Given the description of an element on the screen output the (x, y) to click on. 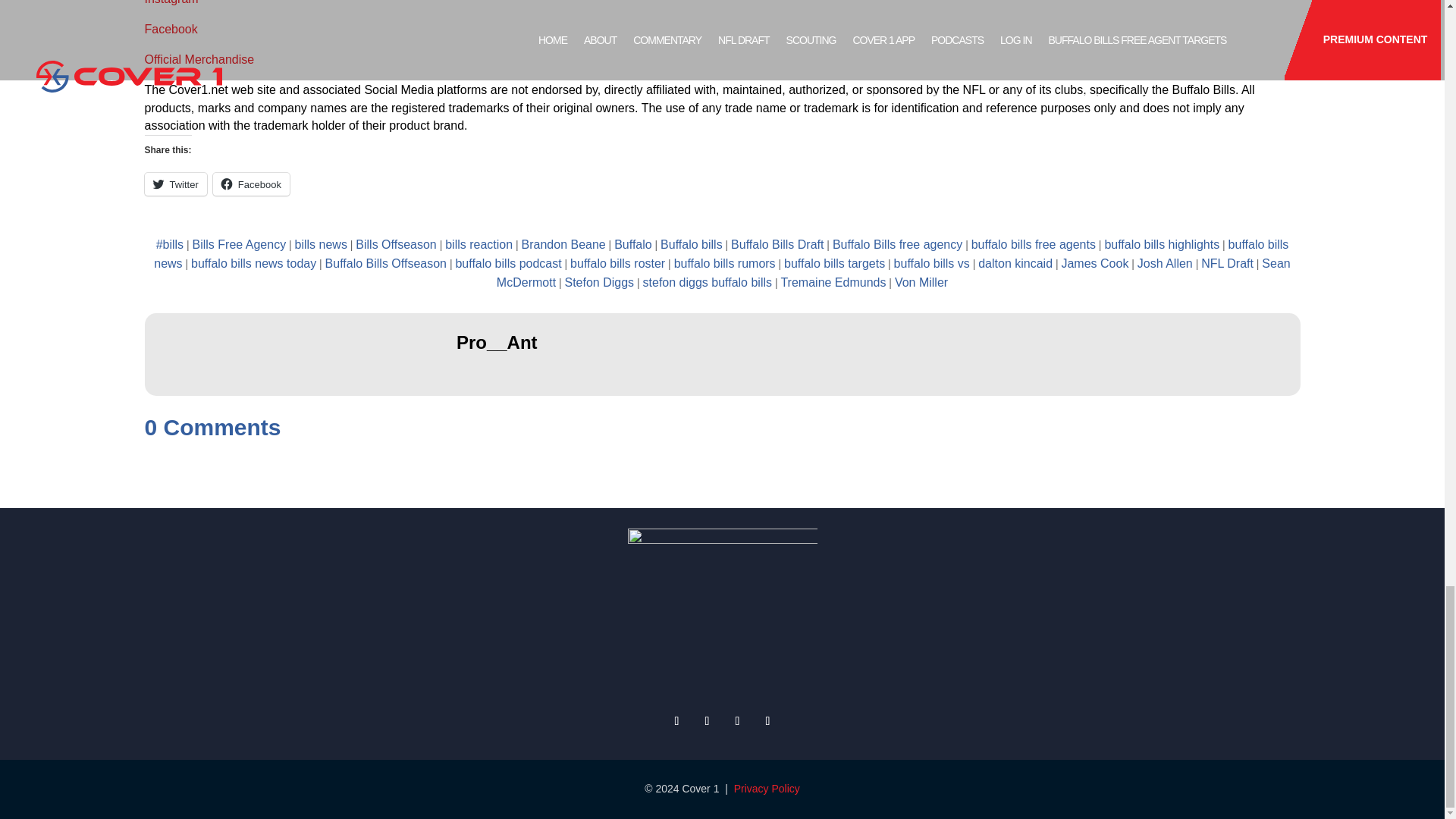
Follow on X (675, 721)
Follow on Youtube (766, 721)
Asset 1 (721, 606)
Click to share on Twitter (175, 183)
Follow on Instagram (737, 721)
Follow on Facebook (706, 721)
Click to share on Facebook (250, 183)
